Given the description of an element on the screen output the (x, y) to click on. 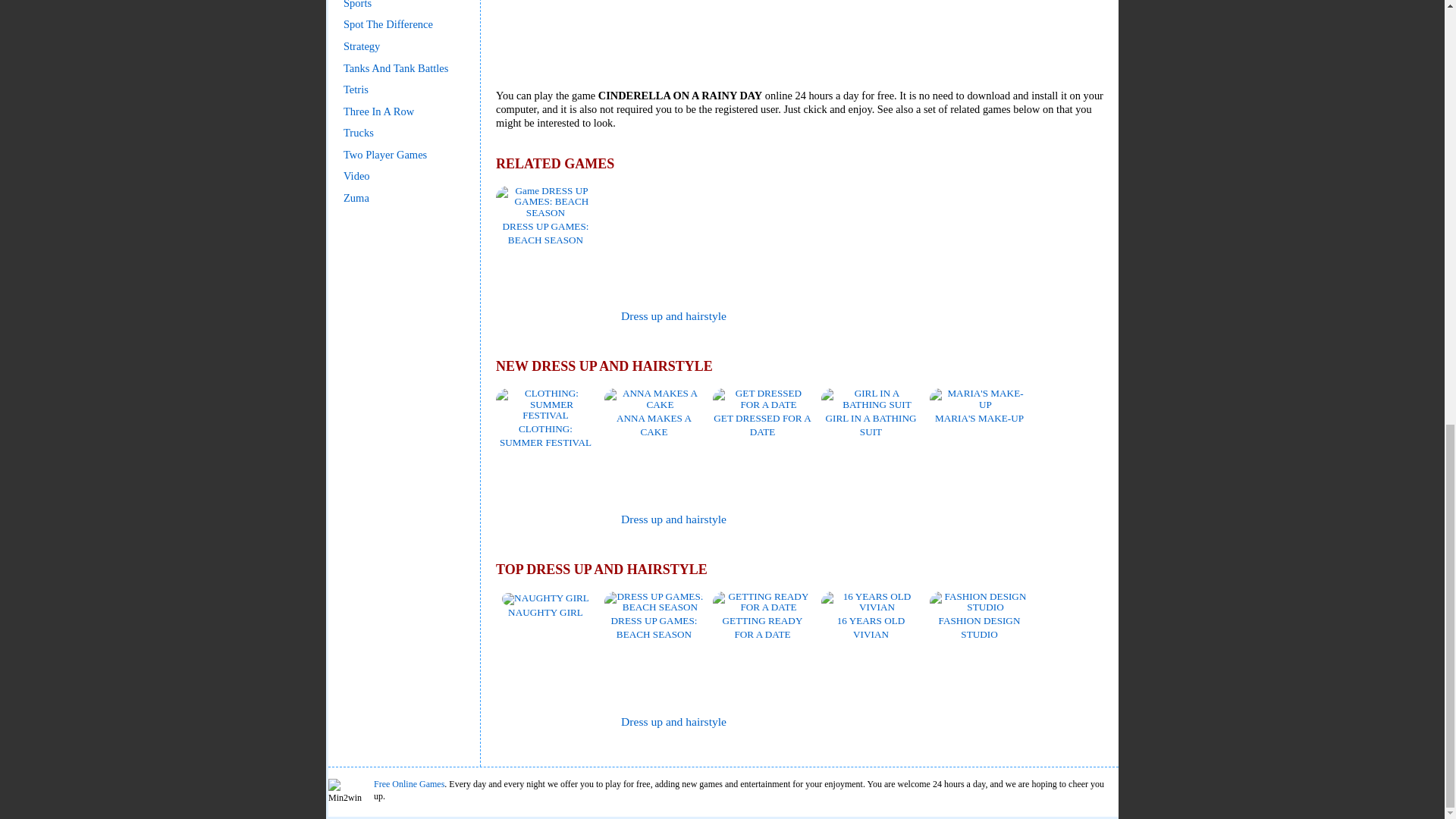
GETTING READY FOR A DATE (762, 620)
ANNA MAKES A CAKE (653, 417)
New games (539, 519)
All Dress up and hairstyle (673, 315)
CLOTHING: SUMMER FESTIVAL (545, 428)
All new games (539, 519)
FASHION DESIGN STUDIO (979, 620)
MARIA'S MAKE-UP (979, 411)
TOP games (538, 721)
All games (536, 316)
